Given the description of an element on the screen output the (x, y) to click on. 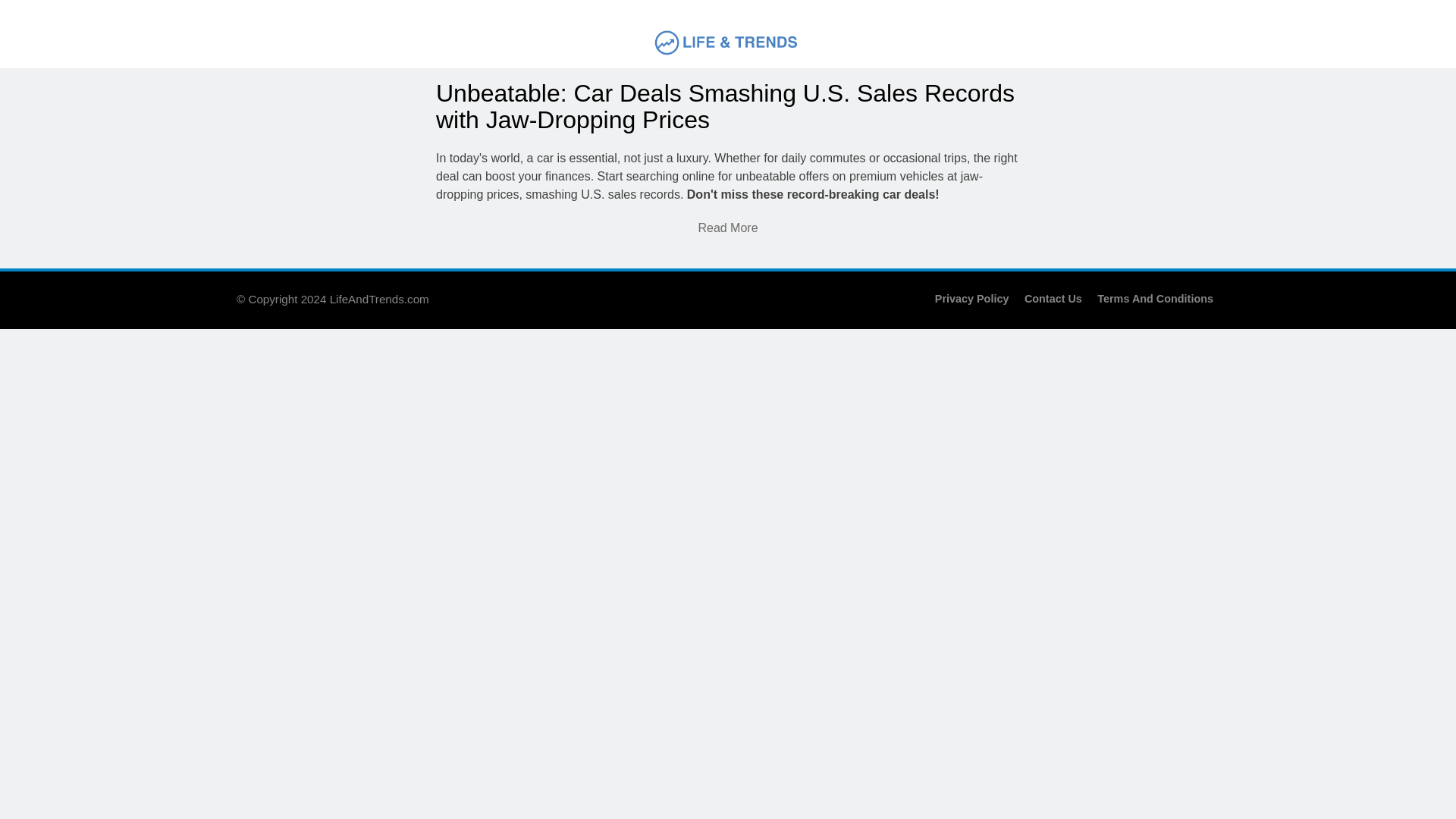
Privacy Policy (971, 298)
Life And Trends (604, 77)
Terms And Conditions (1154, 298)
Contact Us (1053, 298)
Read More (727, 227)
